Given the description of an element on the screen output the (x, y) to click on. 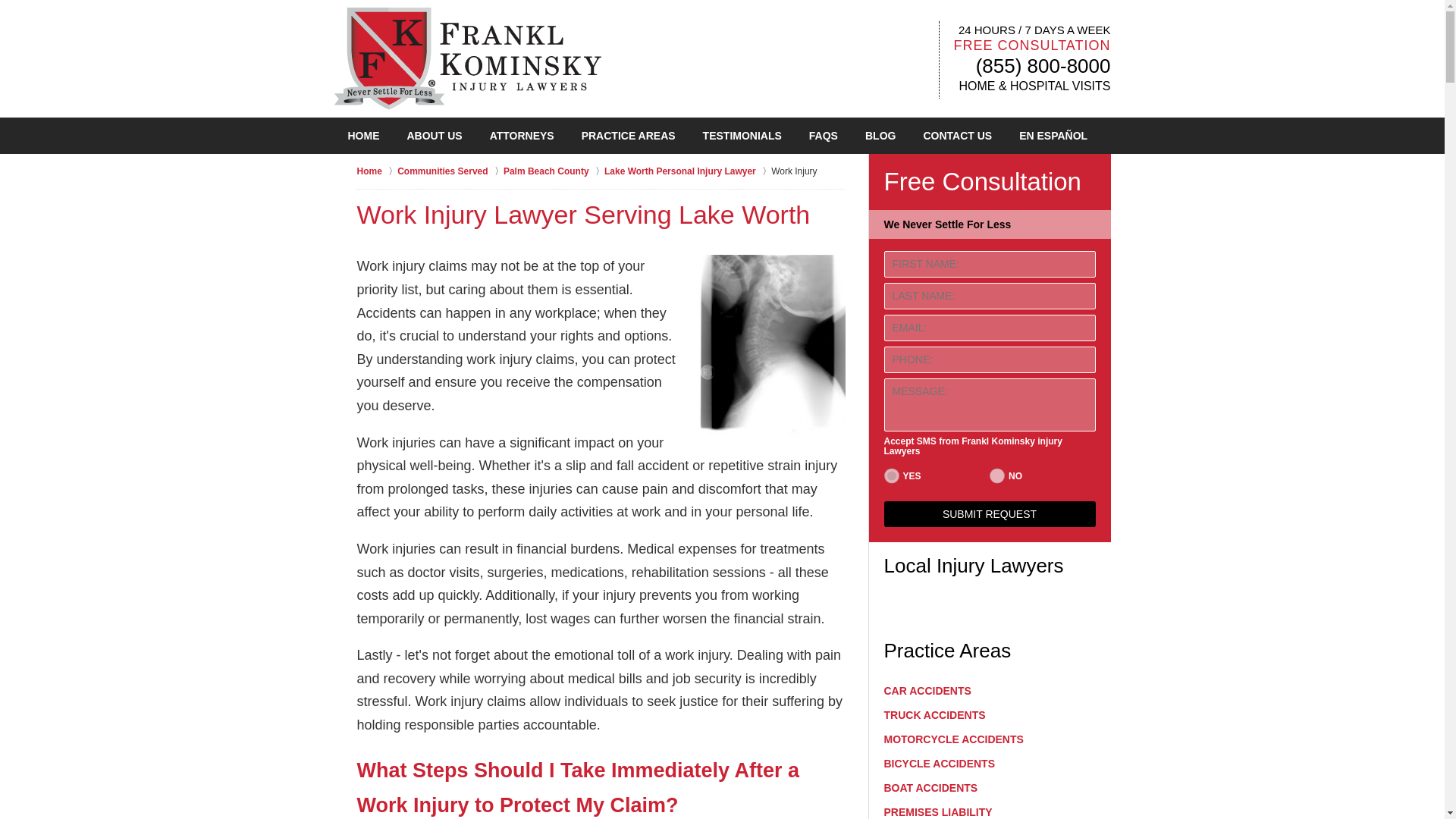
Lake Worth Personal Injury Lawyer (687, 171)
Communities Served (450, 171)
Palm Beach County (553, 171)
SUBMIT REQUEST (989, 514)
PRACTICE AREAS (627, 135)
BLOG (879, 135)
HOME (363, 135)
TESTIMONIALS (741, 135)
CAR ACCIDENTS (989, 690)
Frankl Kominsky Injury Lawyers Home (466, 58)
